Given the description of an element on the screen output the (x, y) to click on. 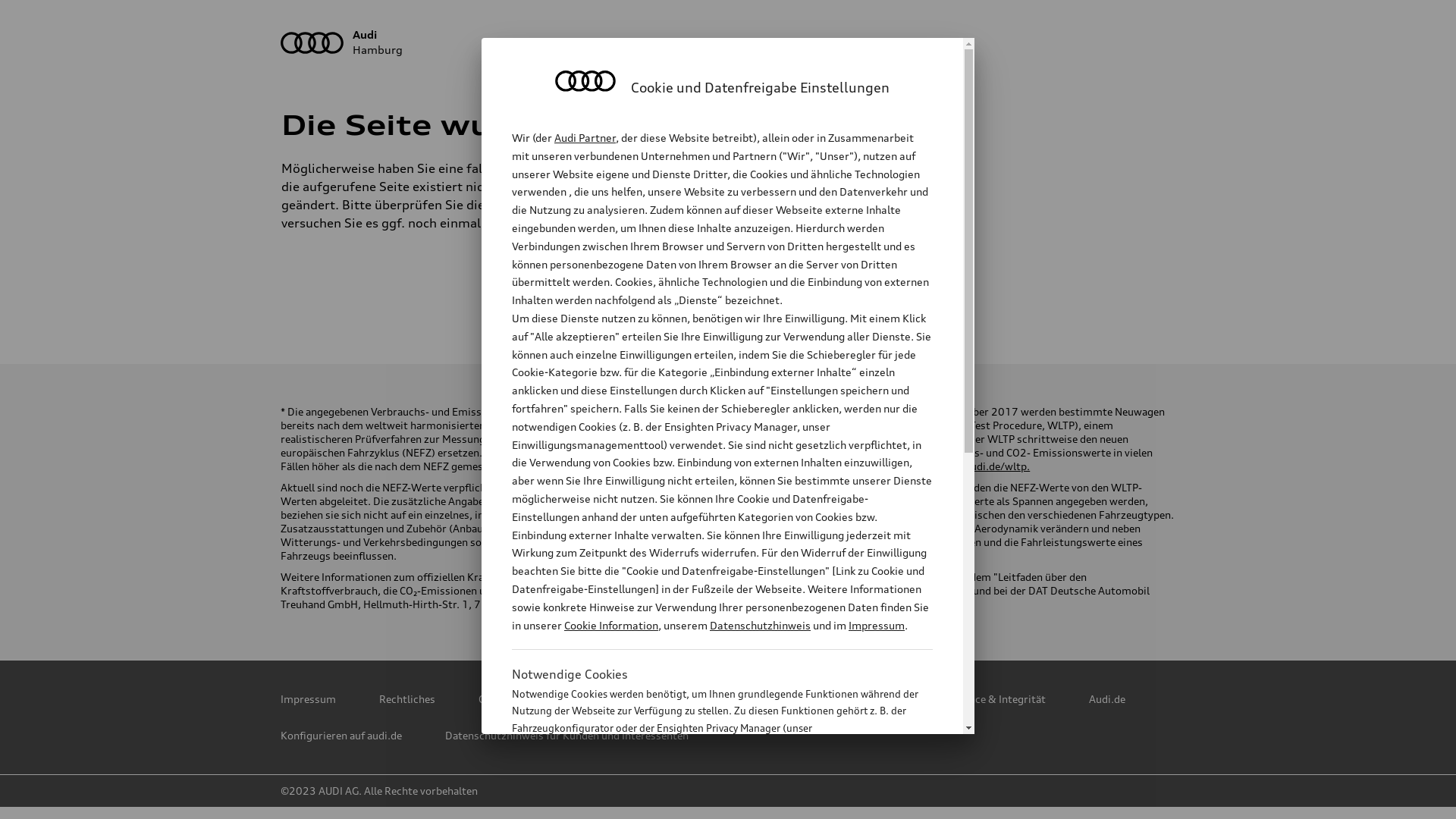
Facebook Element type: hover (629, 291)
Datenschutzhinweis Element type: text (759, 624)
Cookie Information Element type: text (705, 802)
Impressum Element type: text (307, 698)
Audi Partner Element type: text (584, 137)
Konfigurieren auf audi.de Element type: text (340, 735)
www.audi.de/wltp. Element type: text (983, 466)
Cookie Policy Element type: text (711, 698)
www.dat.de Element type: text (665, 604)
Xing Element type: hover (830, 291)
Instagram Element type: hover (696, 291)
LinkedIn Element type: hover (763, 291)
Rechtliches Element type: text (407, 698)
Audi
Hamburg Element type: text (727, 42)
Audi.de Element type: text (1106, 698)
Cookie Information Element type: text (611, 624)
Impressum Element type: text (876, 624)
Copyright & Haftungsausschluss Element type: text (557, 698)
Cookie Einstellungen Element type: text (836, 698)
